Given the description of an element on the screen output the (x, y) to click on. 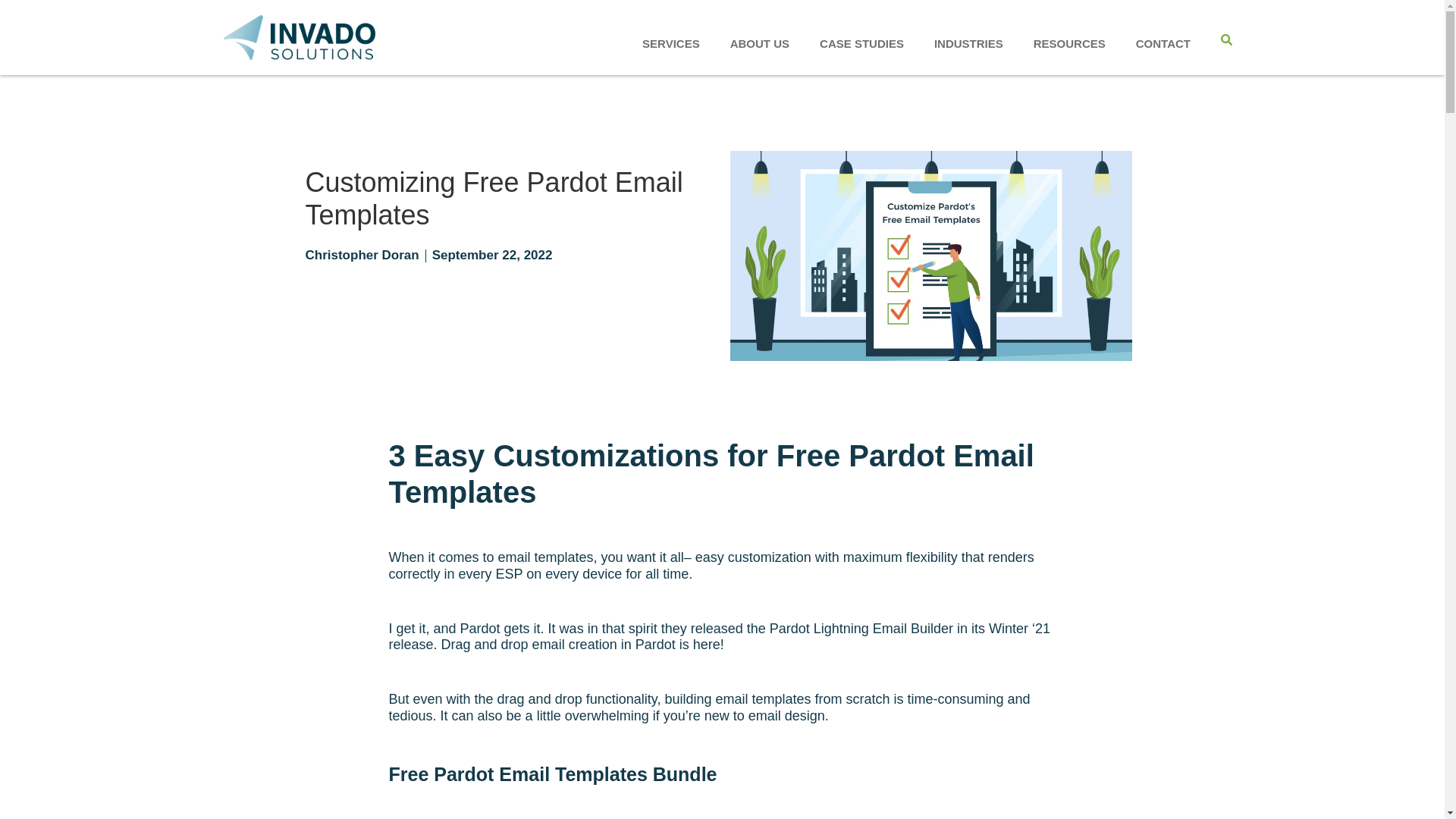
CASE STUDIES (861, 43)
SERVICES (670, 43)
INDUSTRIES (967, 43)
CONTACT (1163, 43)
ABOUT US (759, 43)
RESOURCES (1069, 43)
